Given the description of an element on the screen output the (x, y) to click on. 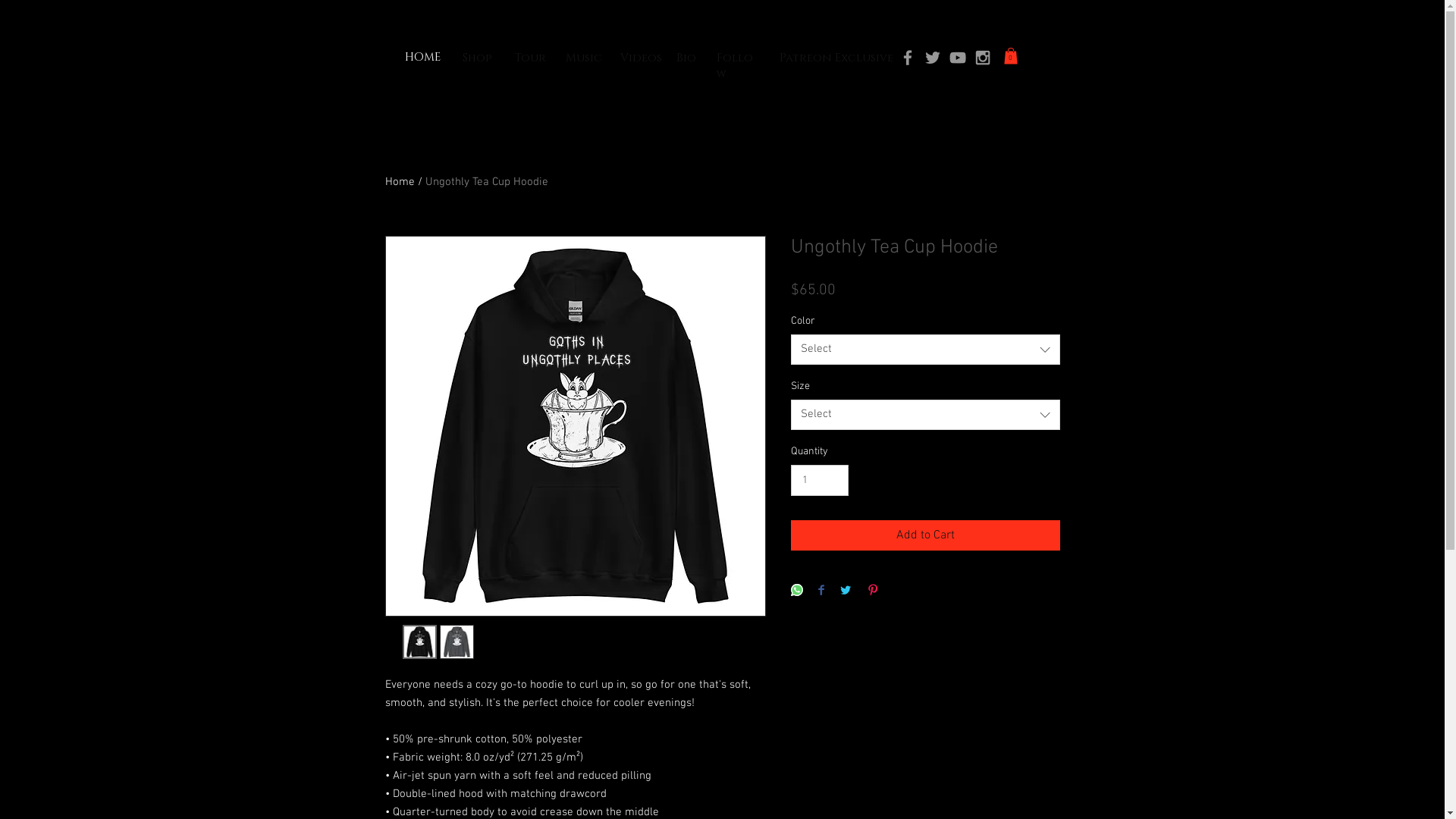
Add to Cart Element type: text (924, 535)
Select Element type: text (924, 349)
Videos Element type: text (641, 58)
Home Element type: text (399, 181)
HOME Element type: text (422, 56)
Music Element type: text (583, 58)
Ungothly Tea Cup Hoodie Element type: text (485, 181)
0 Element type: text (1010, 55)
Tour Element type: text (530, 58)
Patreon Exclusive Element type: text (836, 58)
Follow Element type: text (733, 66)
Bio Element type: text (686, 58)
Select Element type: text (924, 414)
Shop Element type: text (477, 58)
